Given the description of an element on the screen output the (x, y) to click on. 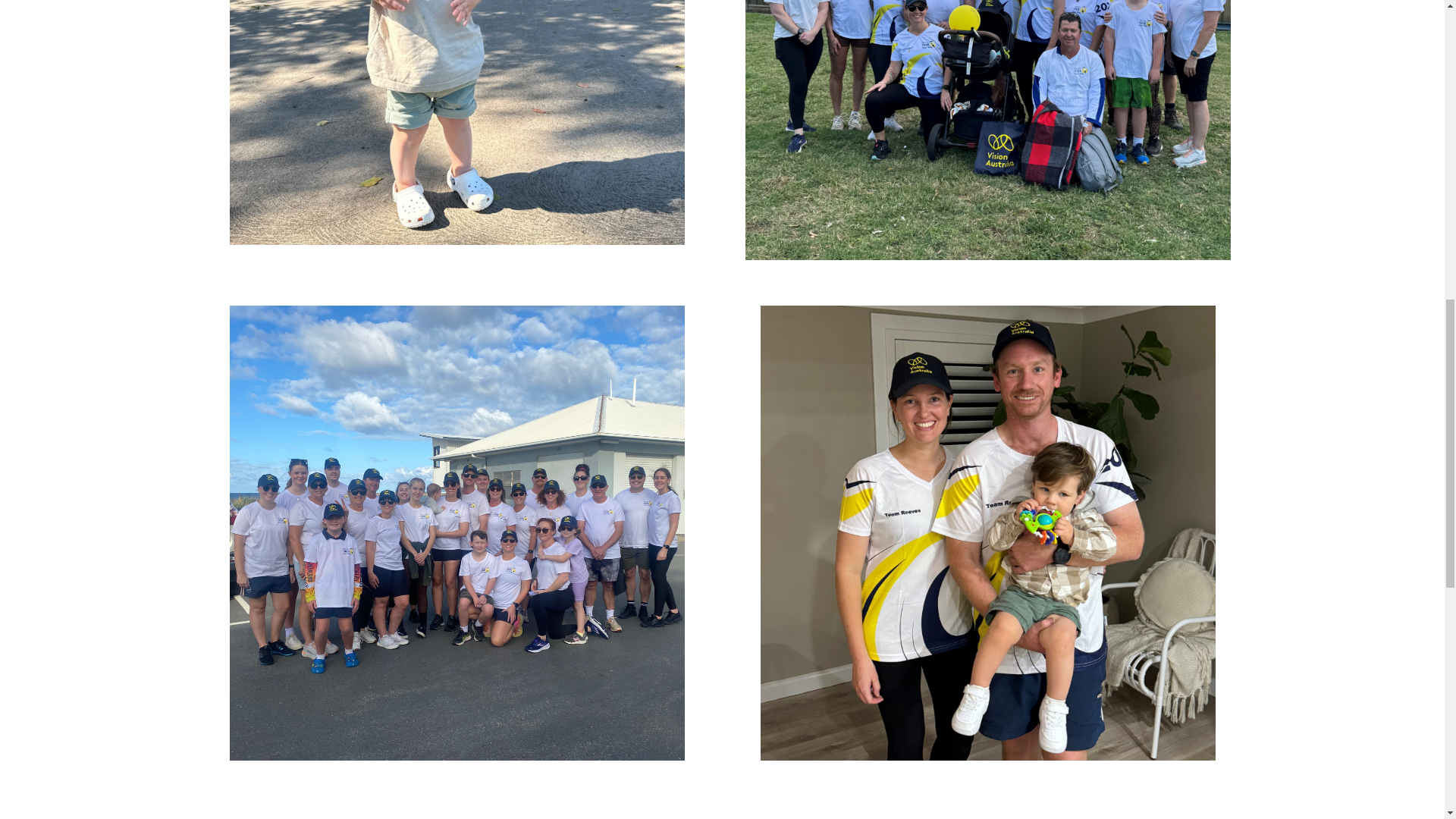
Image of Vision Australia client Koa walking and smiling. (456, 122)
